Given the description of an element on the screen output the (x, y) to click on. 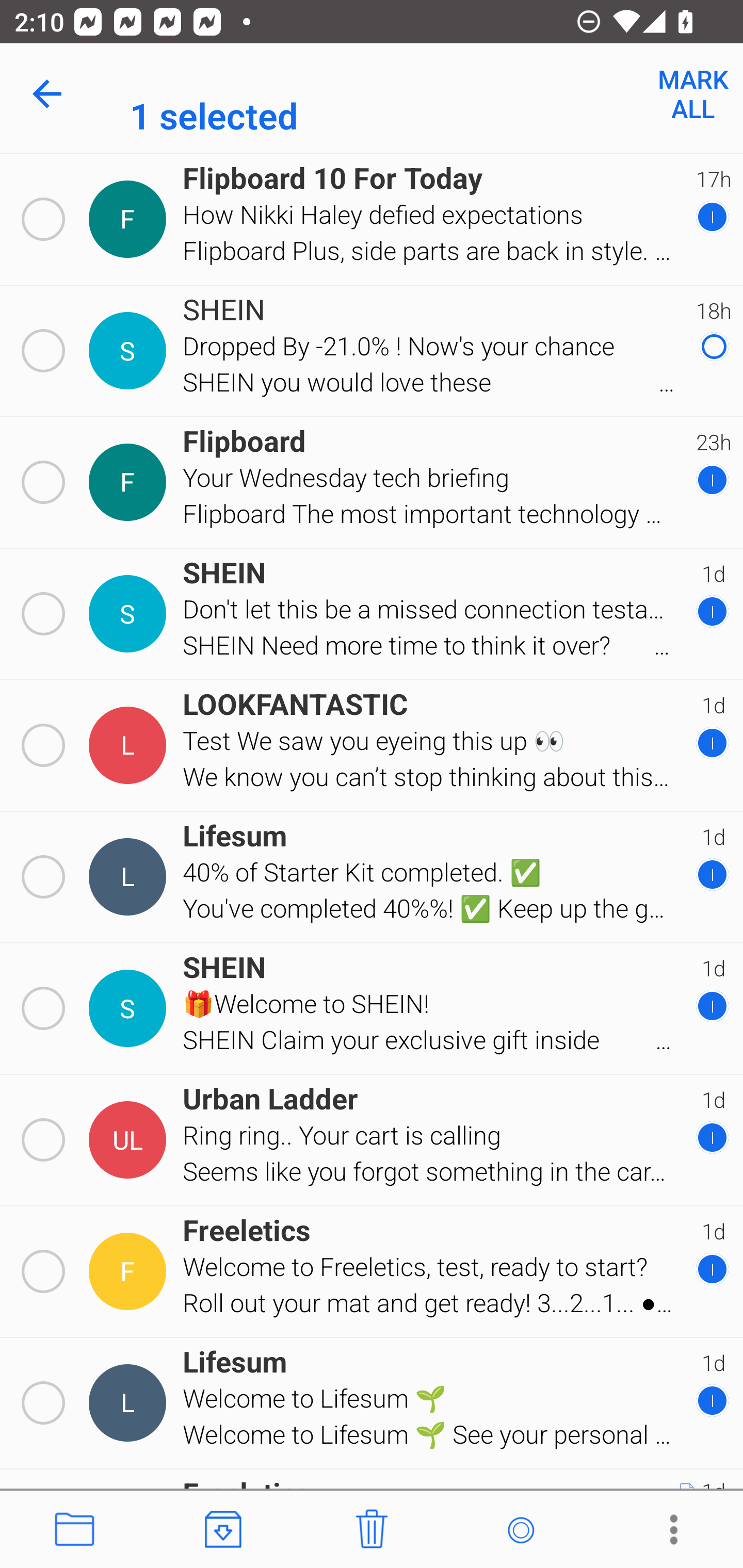
Done (50, 93)
MARK
ALL (692, 93)
Contact Details (129, 219)
Contact Details (129, 350)
Contact Details (129, 482)
Contact Details (129, 613)
Contact Details (129, 745)
Contact Details (129, 877)
Contact Details (129, 1008)
Contact Details (129, 1140)
Contact Details (129, 1271)
Contact Details (129, 1403)
Move (74, 1529)
Archive (222, 1529)
Delete (371, 1529)
Mark as Read (520, 1529)
More Options (668, 1529)
